Given the description of an element on the screen output the (x, y) to click on. 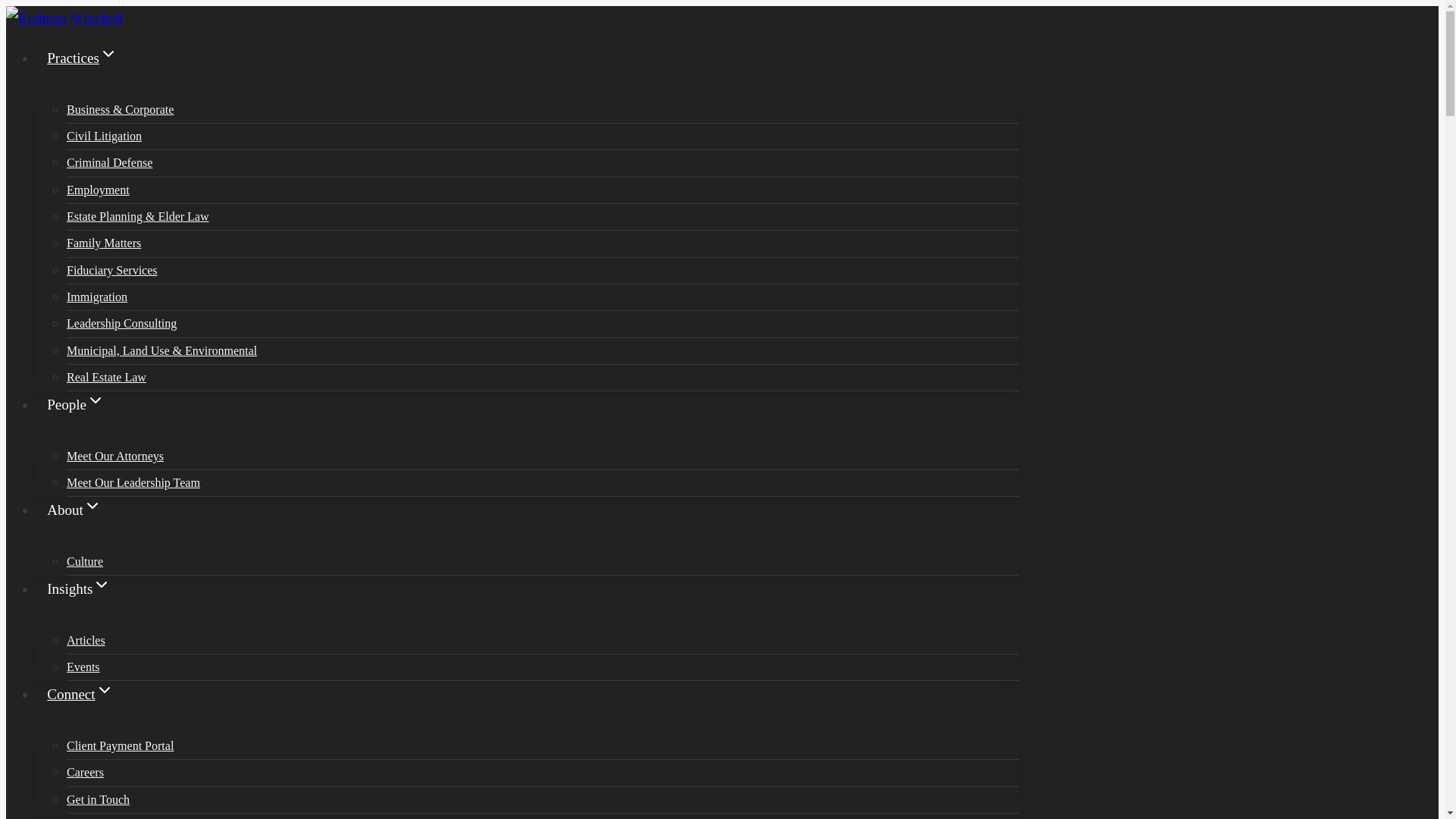
Client Payment Portal (542, 746)
Civil Litigation (542, 136)
Expand (101, 584)
Articles (542, 640)
Real Estate Law (542, 377)
Employment (542, 190)
Careers (542, 772)
Expand (108, 54)
Family Matters (542, 243)
PeopleExpand (527, 417)
